Given the description of an element on the screen output the (x, y) to click on. 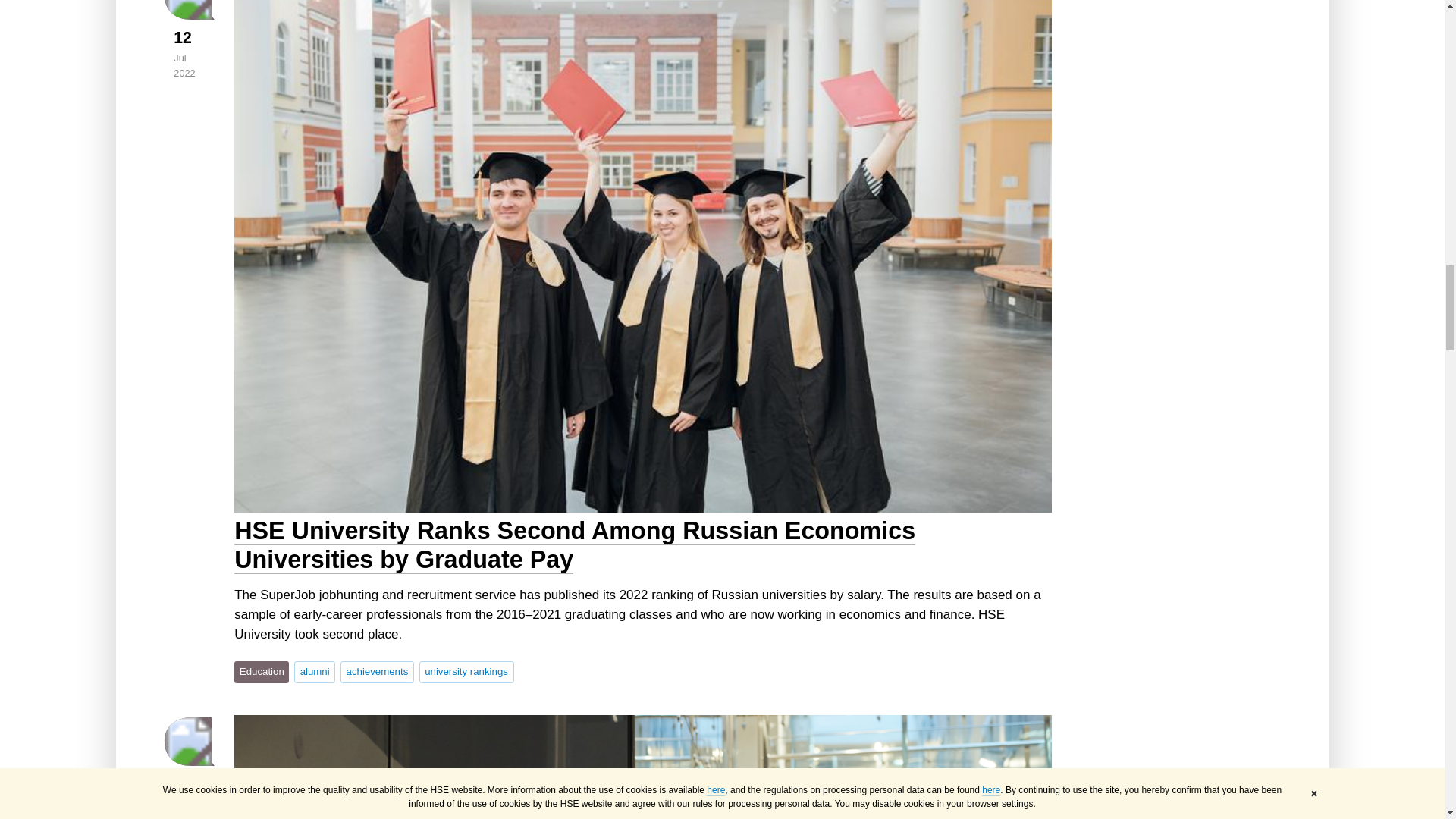
alumni (314, 671)
achievements (376, 671)
 university rankings (466, 671)
